Given the description of an element on the screen output the (x, y) to click on. 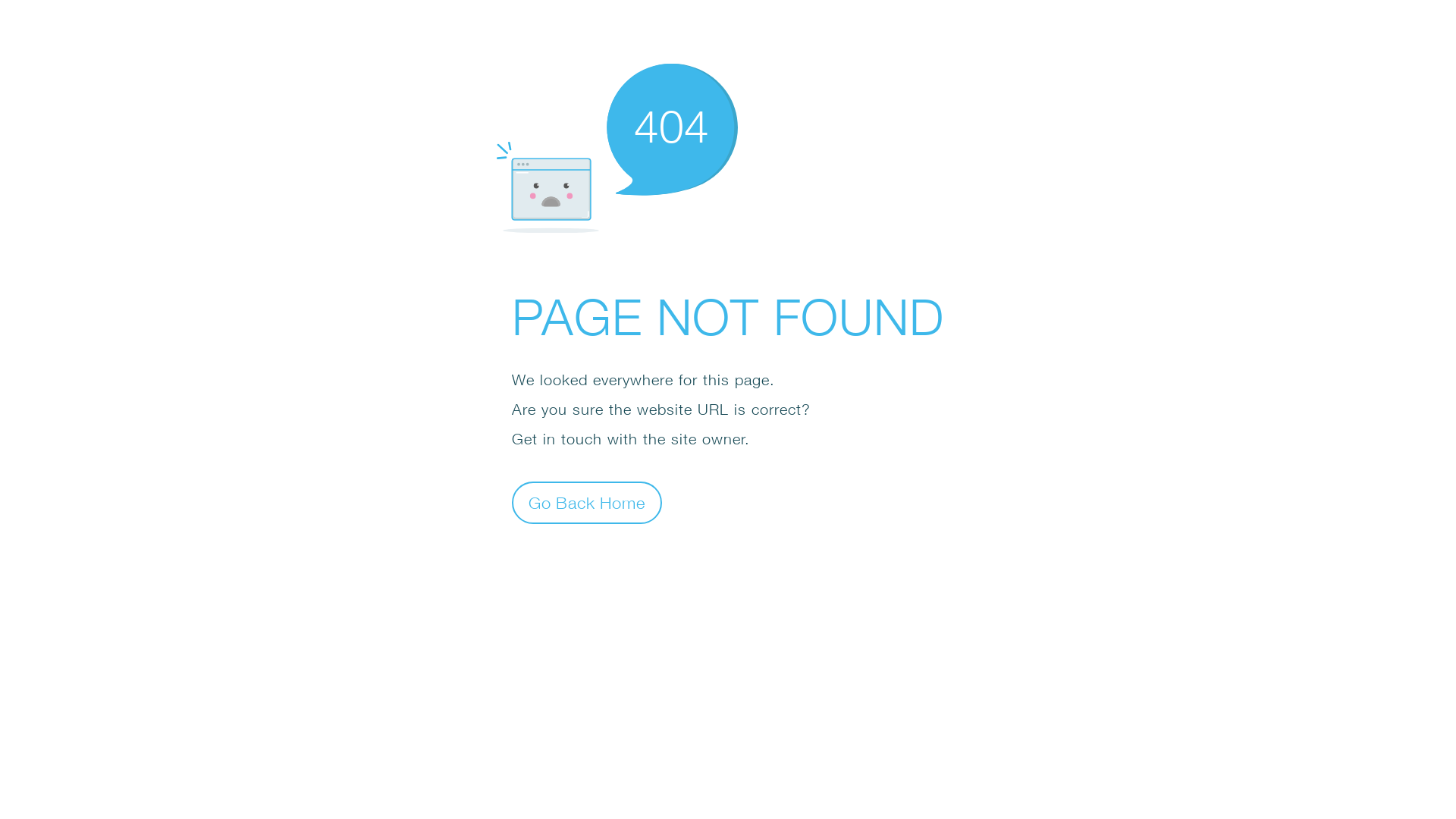
Go Back Home Element type: text (586, 502)
